Given the description of an element on the screen output the (x, y) to click on. 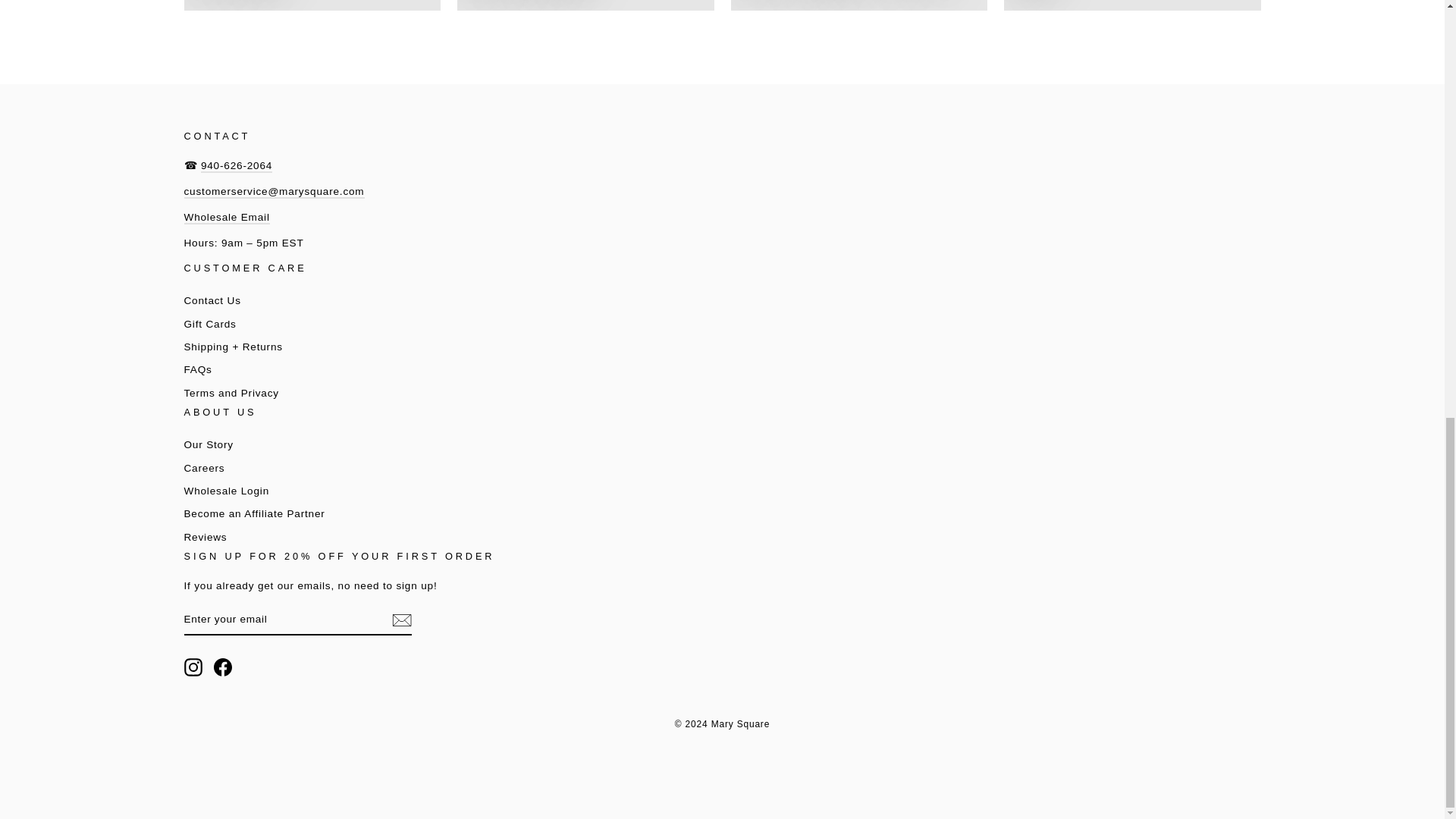
Mary Square on Facebook (222, 667)
Call us! (236, 165)
Mary Square on Instagram (192, 667)
Wholesale Email (226, 217)
